Given the description of an element on the screen output the (x, y) to click on. 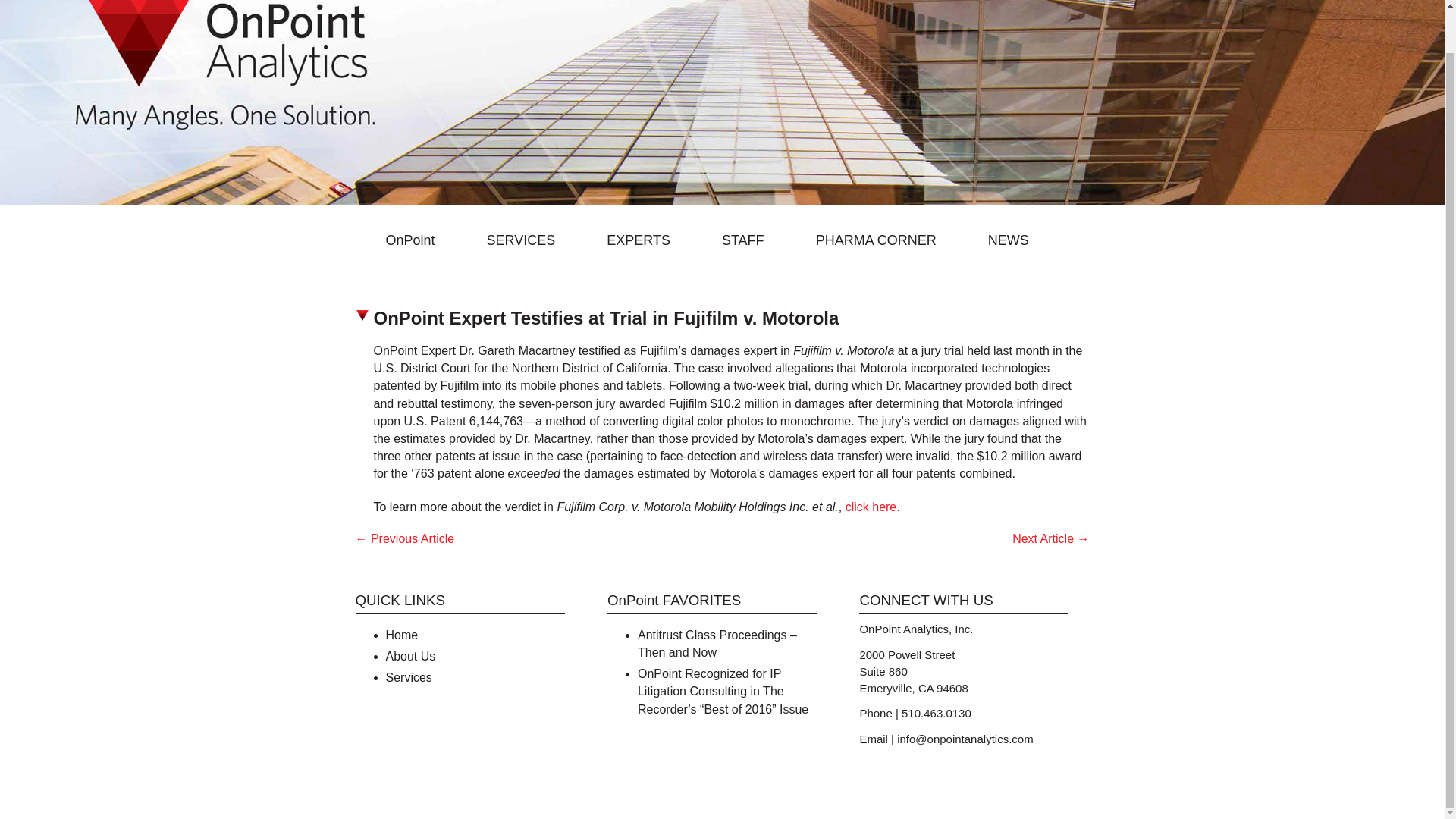
Services (407, 676)
EXPERTS (647, 240)
NEWS (1017, 240)
click here. (872, 506)
Home (401, 634)
OnPoint (418, 240)
SERVICES (529, 240)
About Us (410, 656)
STAFF (752, 240)
PHARMA CORNER (885, 240)
